Given the description of an element on the screen output the (x, y) to click on. 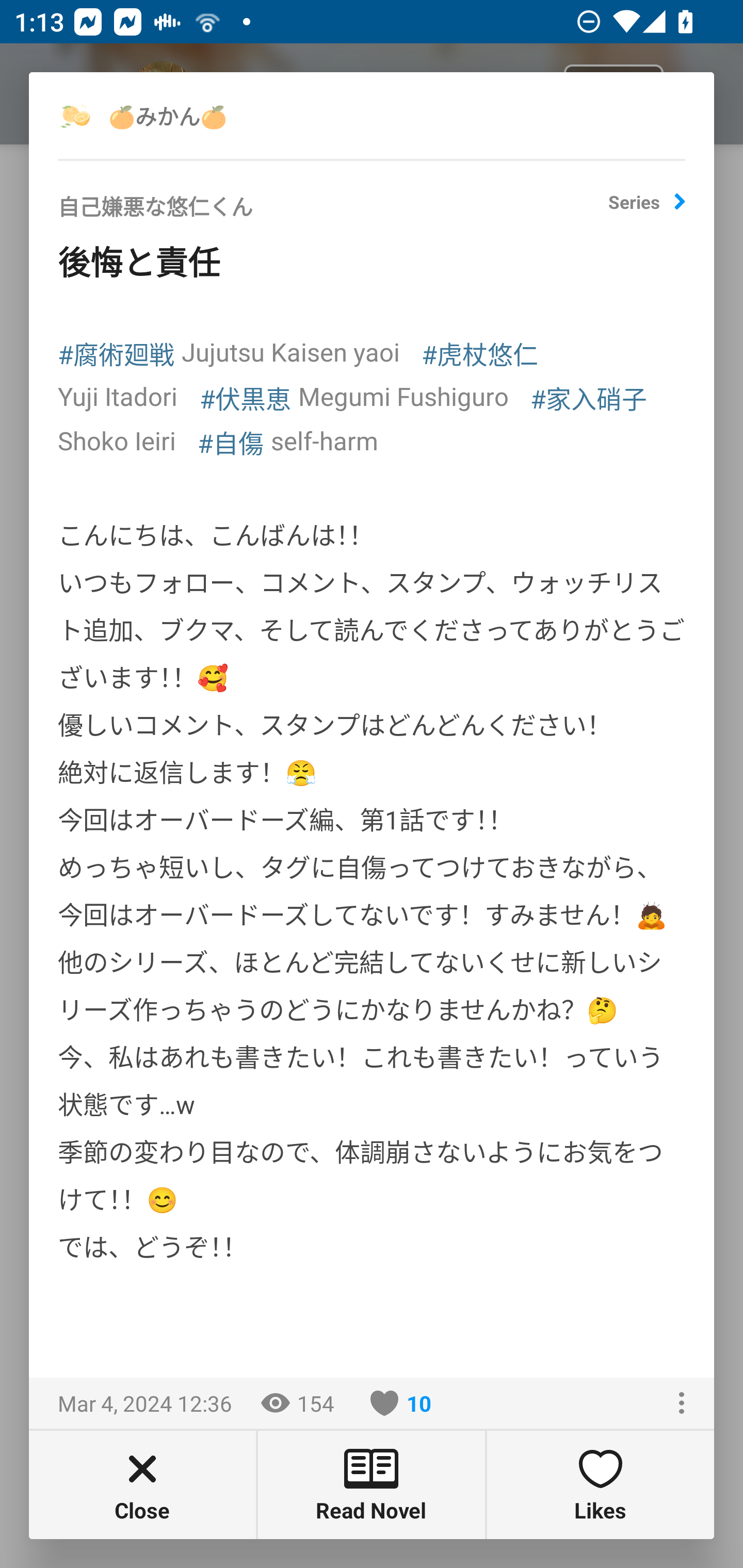
🍊みかん🍊 (188, 115)
自己嫌悪な悠仁くん (332, 212)
Series (646, 208)
#腐術廻戦 (115, 352)
Jujutsu Kaisen yaoi (290, 350)
#虎杖悠仁 (479, 352)
Yuji Itadori (117, 395)
#伏黒恵 (245, 397)
Megumi Fushiguro (402, 395)
#家入硝子 (588, 397)
Shoko Ieiri (116, 440)
#自傷 (230, 441)
self-harm (324, 440)
10 (400, 1403)
Close (141, 1484)
Read Novel (371, 1484)
